Given the description of an element on the screen output the (x, y) to click on. 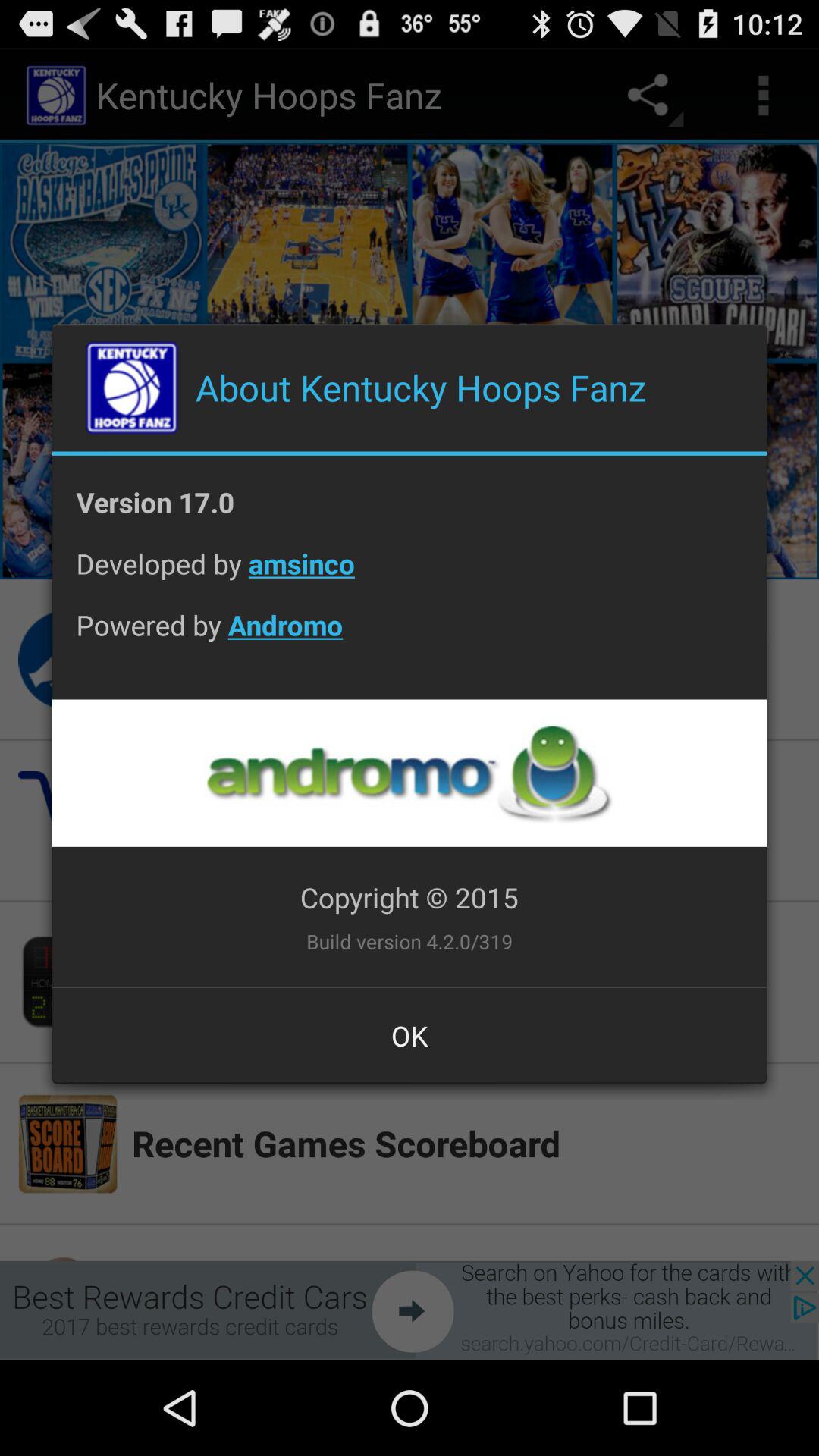
click the powered by andromo item (409, 636)
